Given the description of an element on the screen output the (x, y) to click on. 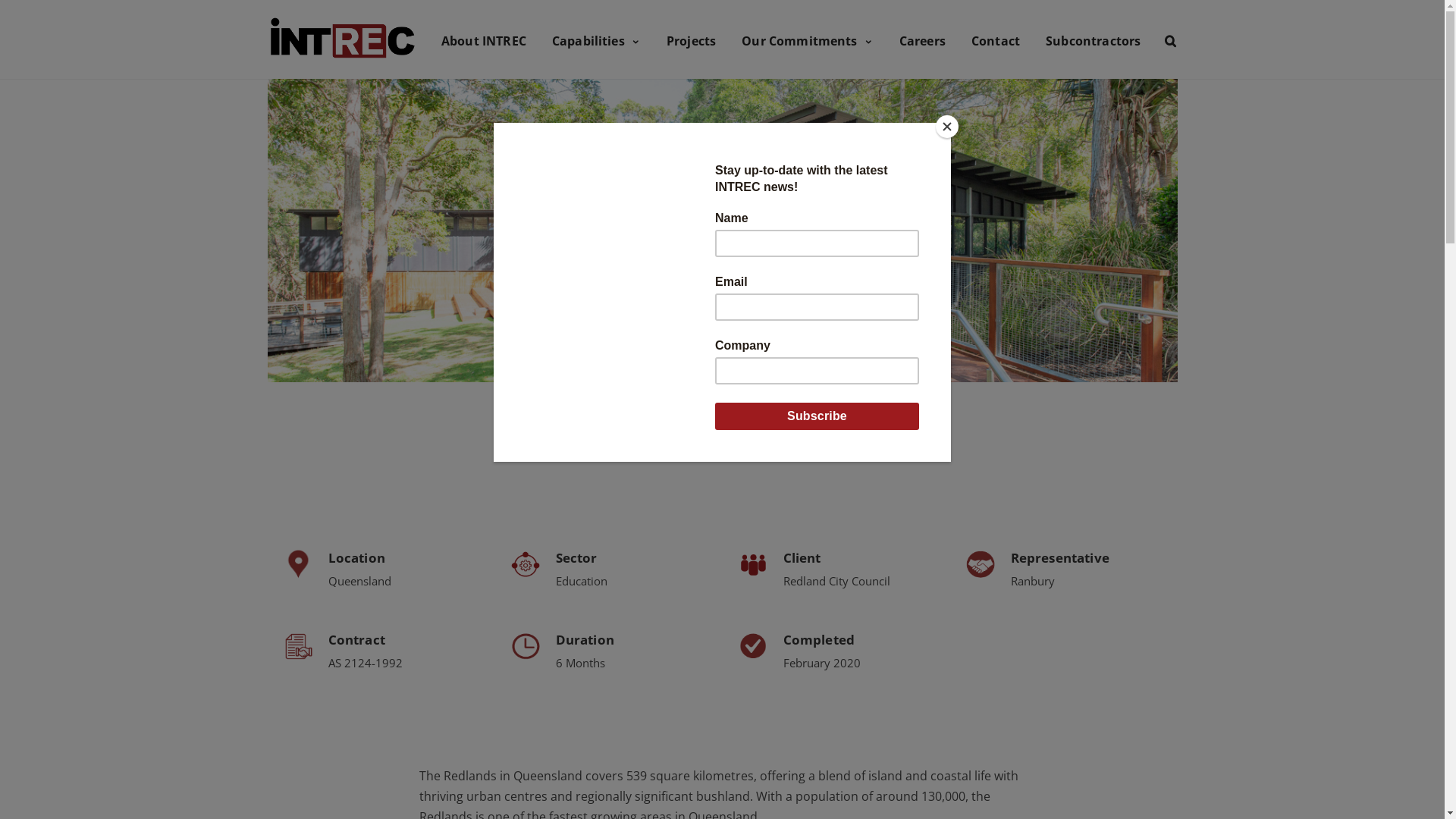
Projects Element type: text (690, 39)
Careers Element type: text (922, 39)
Capabilities Element type: text (596, 39)
Our Commitments Element type: text (807, 39)
Contact Element type: text (995, 39)
About INTREC Element type: text (483, 39)
Subcontractors Element type: text (1092, 39)
